Given the description of an element on the screen output the (x, y) to click on. 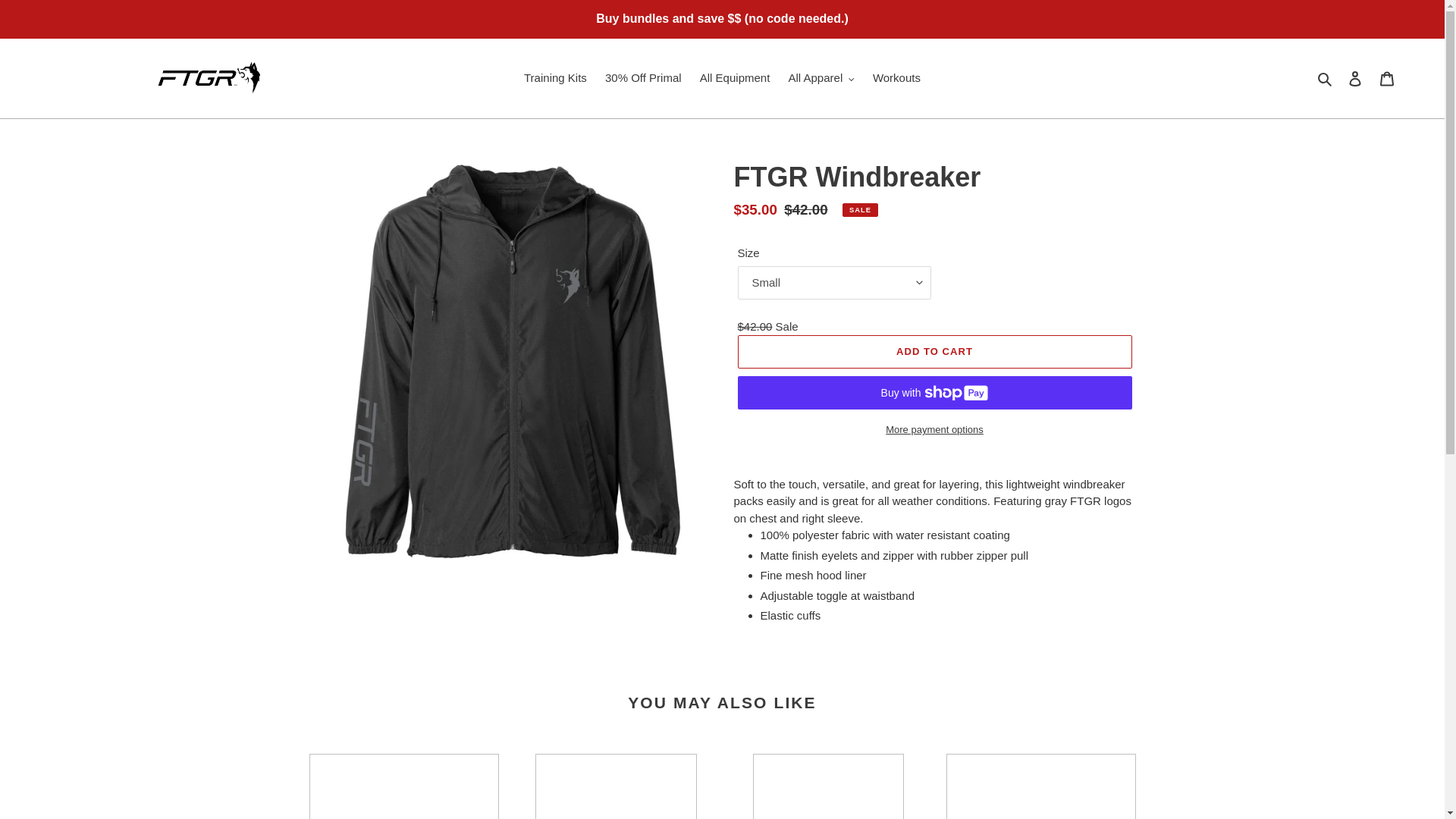
Cart (1387, 78)
Underdog Ultra Crew (828, 786)
Search (1326, 77)
Workouts (896, 78)
More payment options (933, 429)
Log in (1355, 78)
Training Kits (555, 78)
All Equipment (735, 78)
FTGR Elite Triblend Army (616, 786)
All Apparel (820, 78)
